Given the description of an element on the screen output the (x, y) to click on. 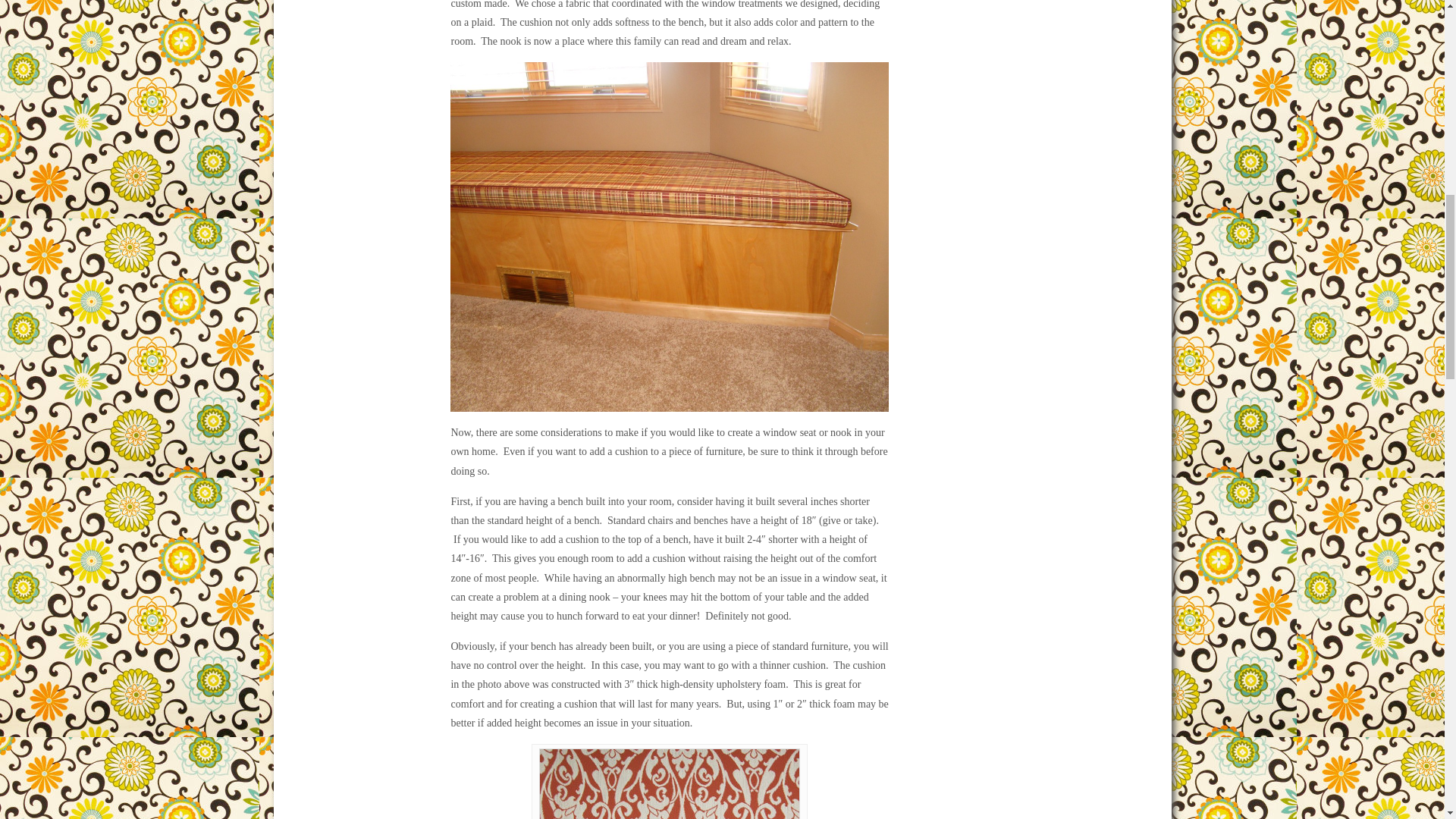
Greenhouse Outdoor Fabric (668, 783)
